Given the description of an element on the screen output the (x, y) to click on. 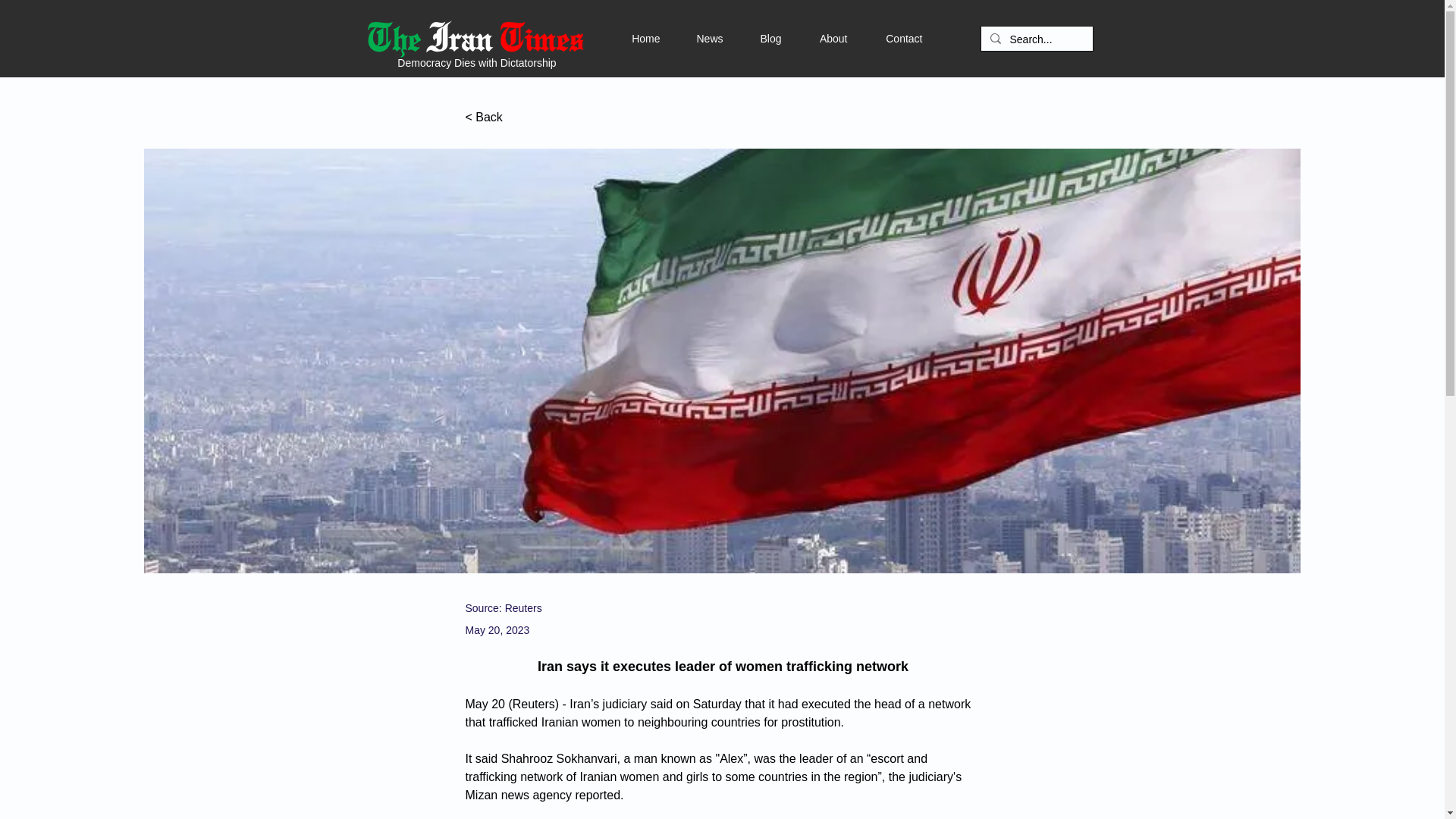
Home (628, 38)
About (813, 38)
News (690, 38)
Blog (752, 38)
Contact (885, 38)
